Given the description of an element on the screen output the (x, y) to click on. 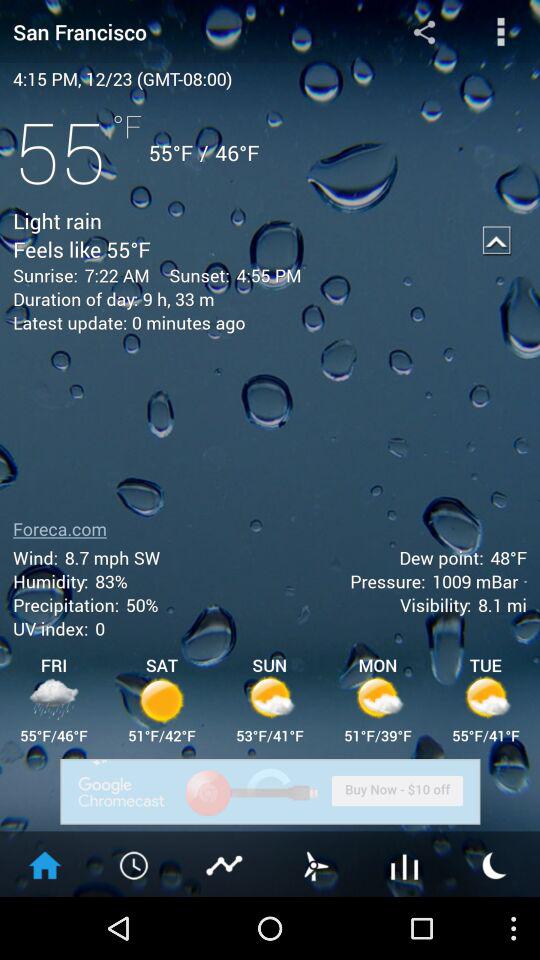
hamburger button for options (500, 31)
